Given the description of an element on the screen output the (x, y) to click on. 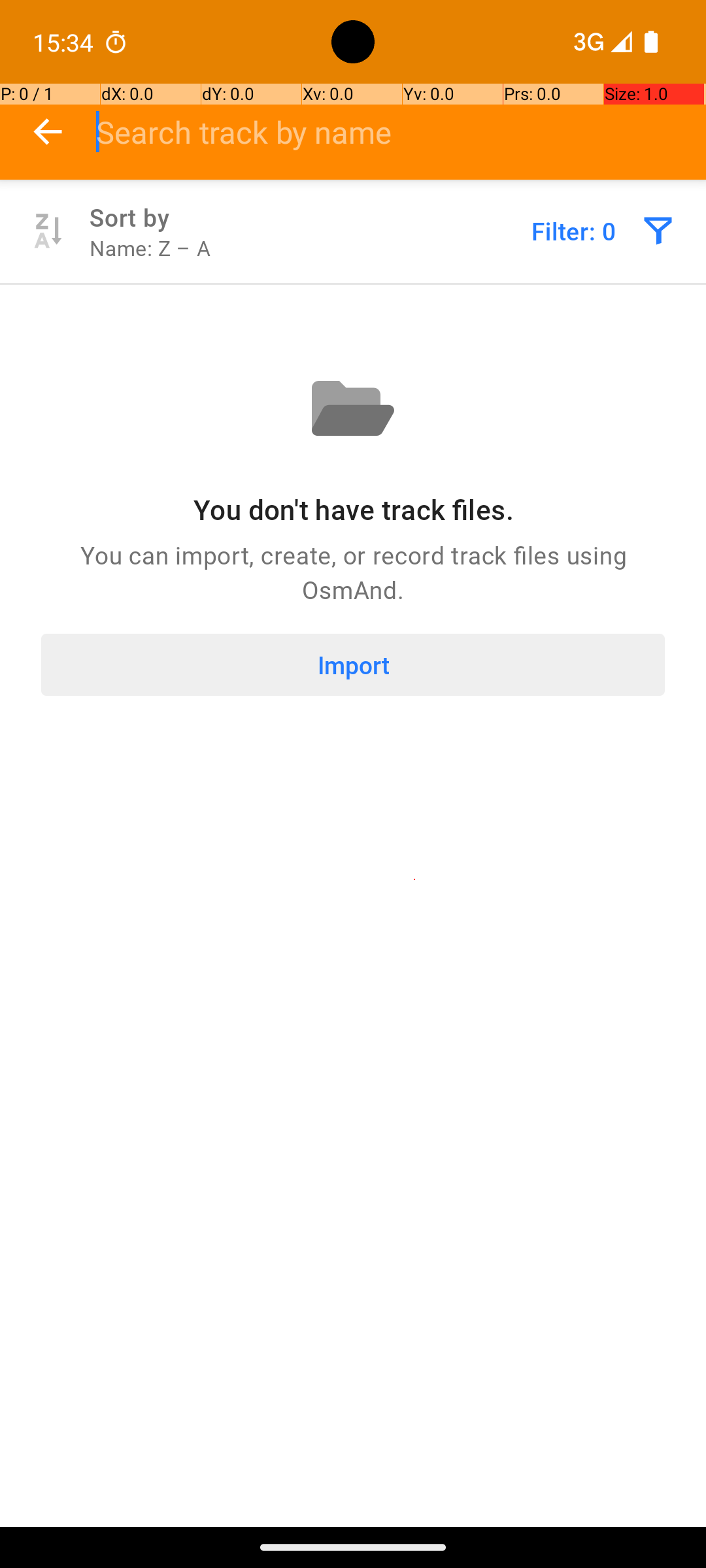
backward Element type: android.widget.ImageButton (48, 131)
Search track by name Element type: android.widget.EditText (401, 131)
You don't have track files. Element type: android.widget.TextView (352, 508)
You can import, create, or record track files using OsmAnd. Element type: android.widget.TextView (352, 572)
Name: Z – A Element type: android.widget.TextView (150, 247)
Filter: 0 Element type: android.widget.TextView (573, 230)
Import Element type: android.widget.TextView (352, 664)
